Given the description of an element on the screen output the (x, y) to click on. 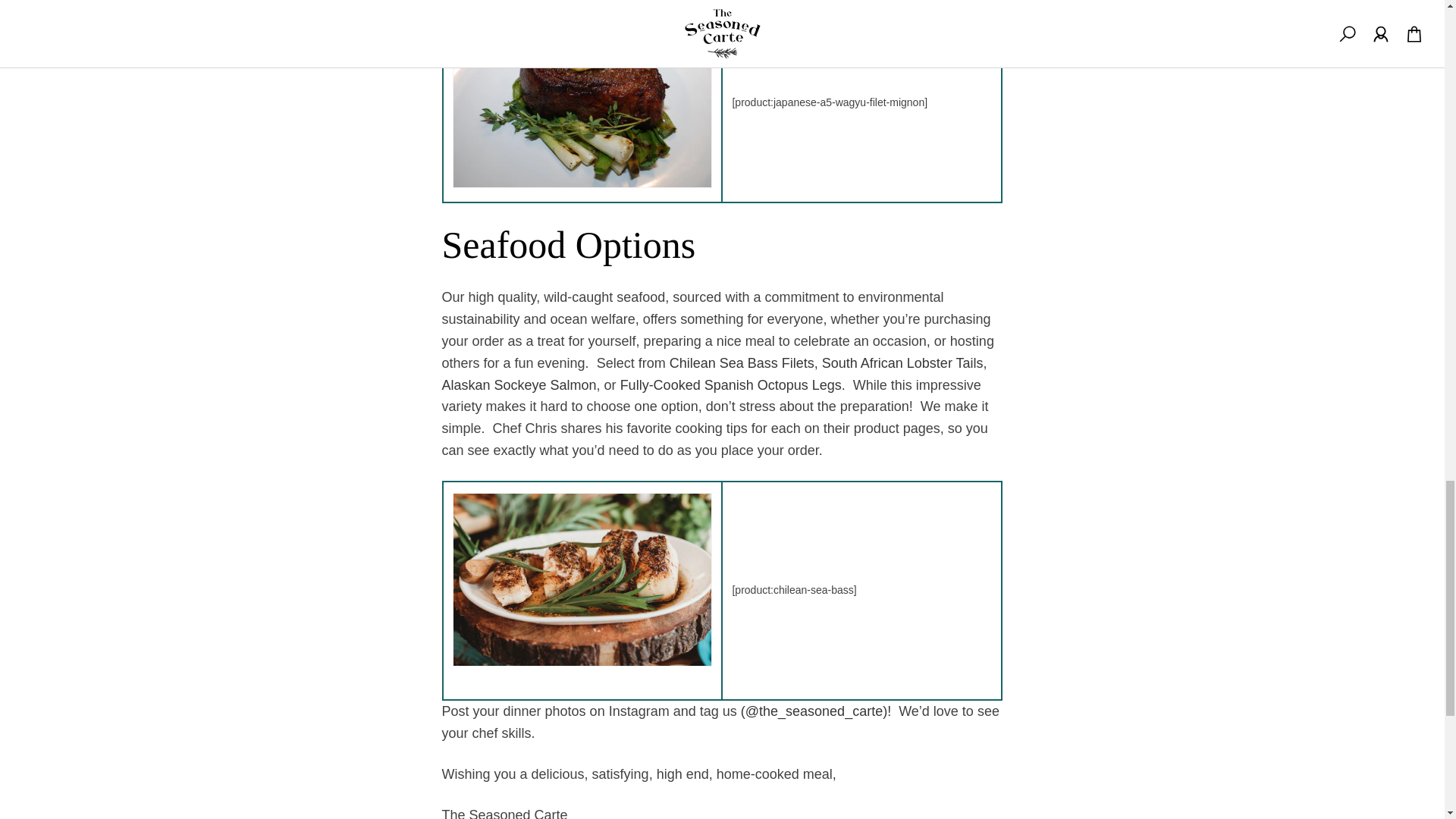
South African Lobster Tails (903, 363)
Chilean Sea Bass Filets (741, 363)
Fully-Cooked Spanish Octopus Legs (730, 385)
Alaskan Sockeye Salmon (518, 385)
